Given the description of an element on the screen output the (x, y) to click on. 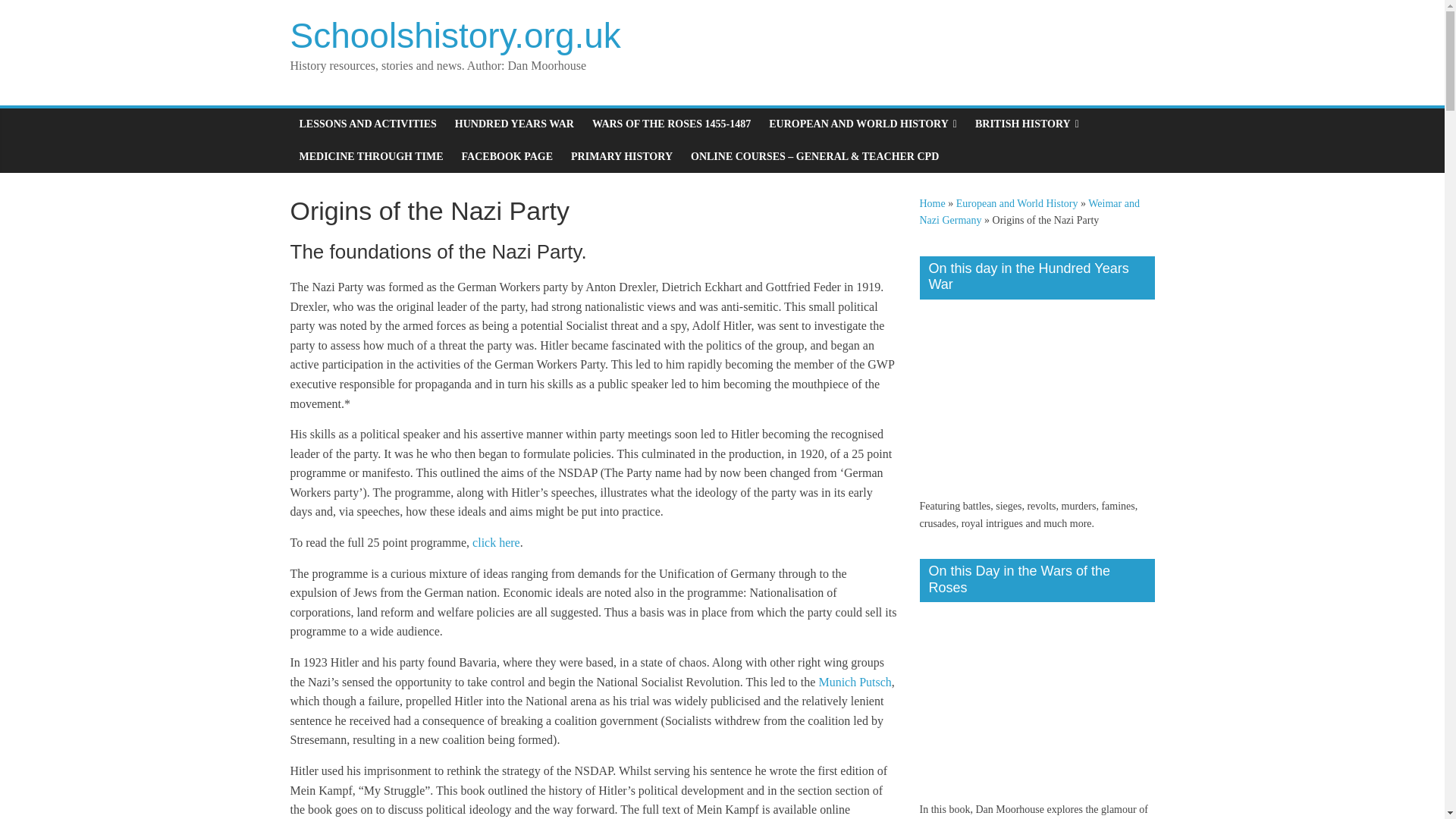
Munich Putsch (854, 681)
European and World History (1017, 203)
LESSONS AND ACTIVITIES (367, 124)
FACEBOOK PAGE (507, 156)
HUNDRED YEARS WAR (514, 124)
WARS OF THE ROSES 1455-1487 (671, 124)
MEDICINE THROUGH TIME (370, 156)
Schoolshistory.org.uk (454, 35)
Schoolshistory.org.uk (454, 35)
EUROPEAN AND WORLD HISTORY (863, 124)
